Given the description of an element on the screen output the (x, y) to click on. 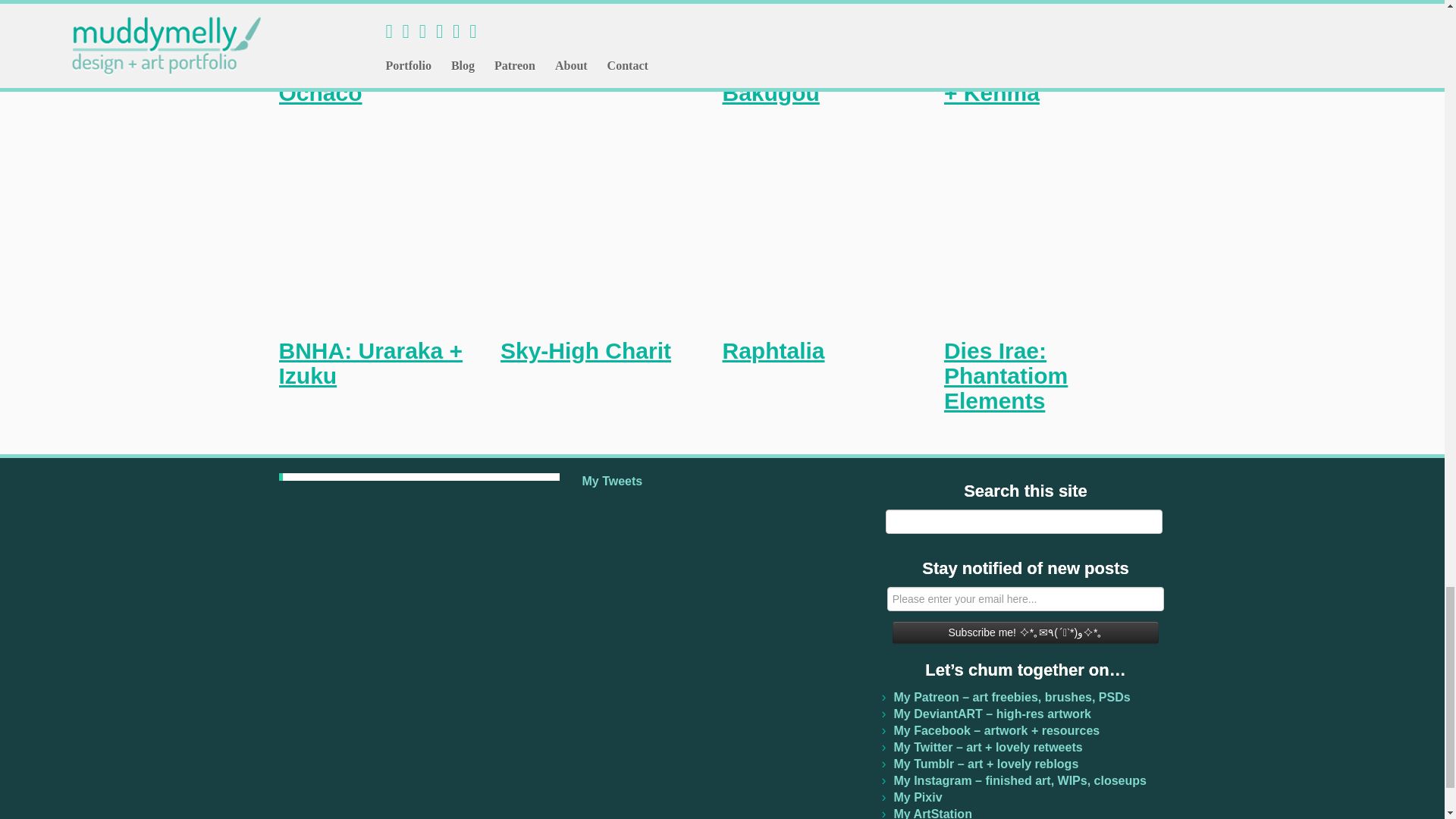
BNHA: All Might (587, 67)
BNHA: Katsuki Bakugou (802, 80)
BNHA: Katsuki Bakugou (802, 80)
BNHA: All Might (587, 67)
